Given the description of an element on the screen output the (x, y) to click on. 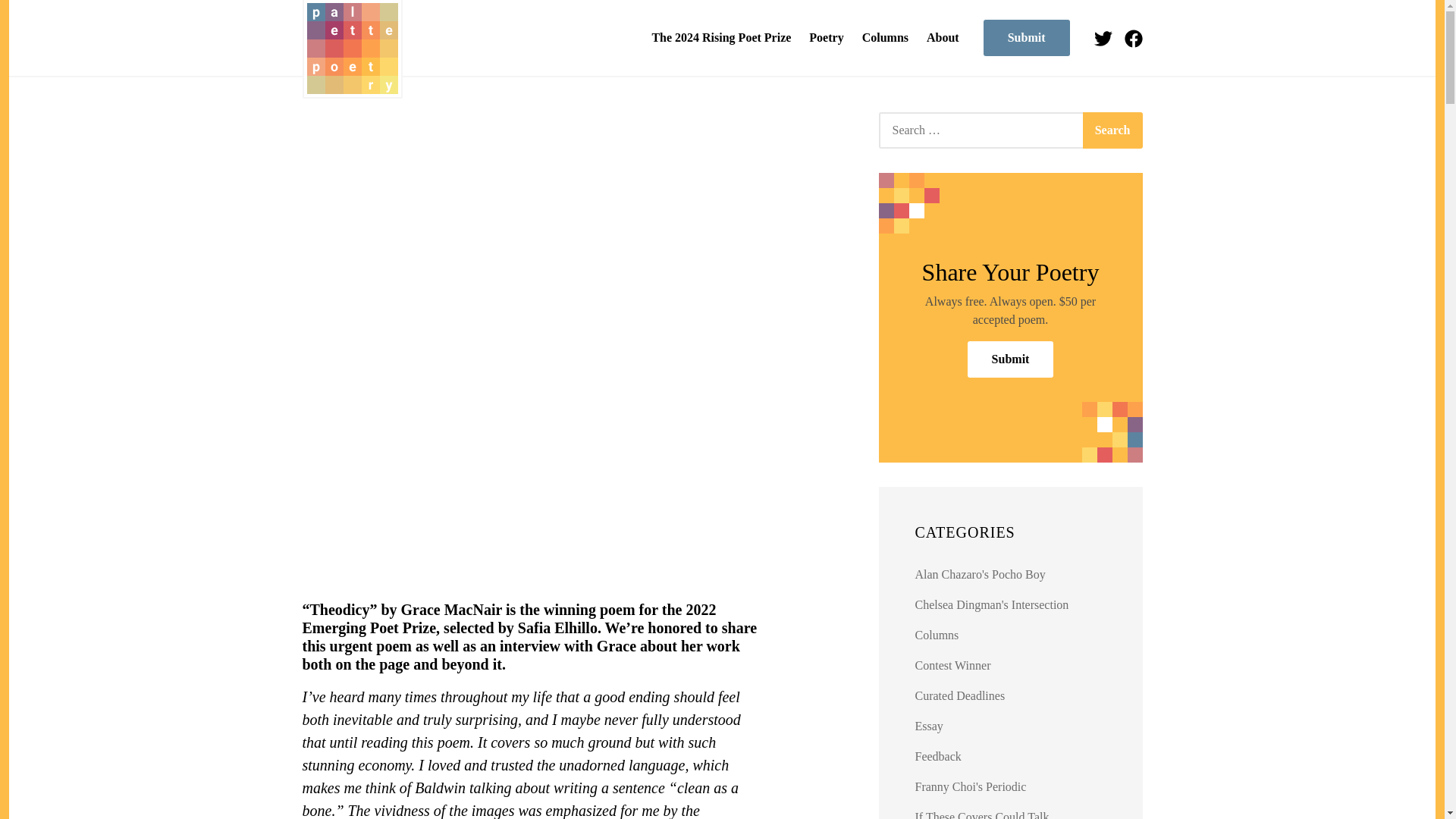
Essay (929, 725)
Alan Chazaro's Pocho Boy (980, 574)
Contest Winner (953, 665)
Poetry (825, 37)
Franny Choi's Periodic (970, 786)
Feedback (937, 756)
Facebook (1132, 36)
Palette Poetry (351, 49)
Chelsea Dingman's Intersection (991, 604)
Curated Deadlines (960, 695)
Columns (885, 37)
Submit (1011, 359)
About (942, 37)
The 2024 Rising Poet Prize (720, 37)
Submit (1027, 37)
